Given the description of an element on the screen output the (x, y) to click on. 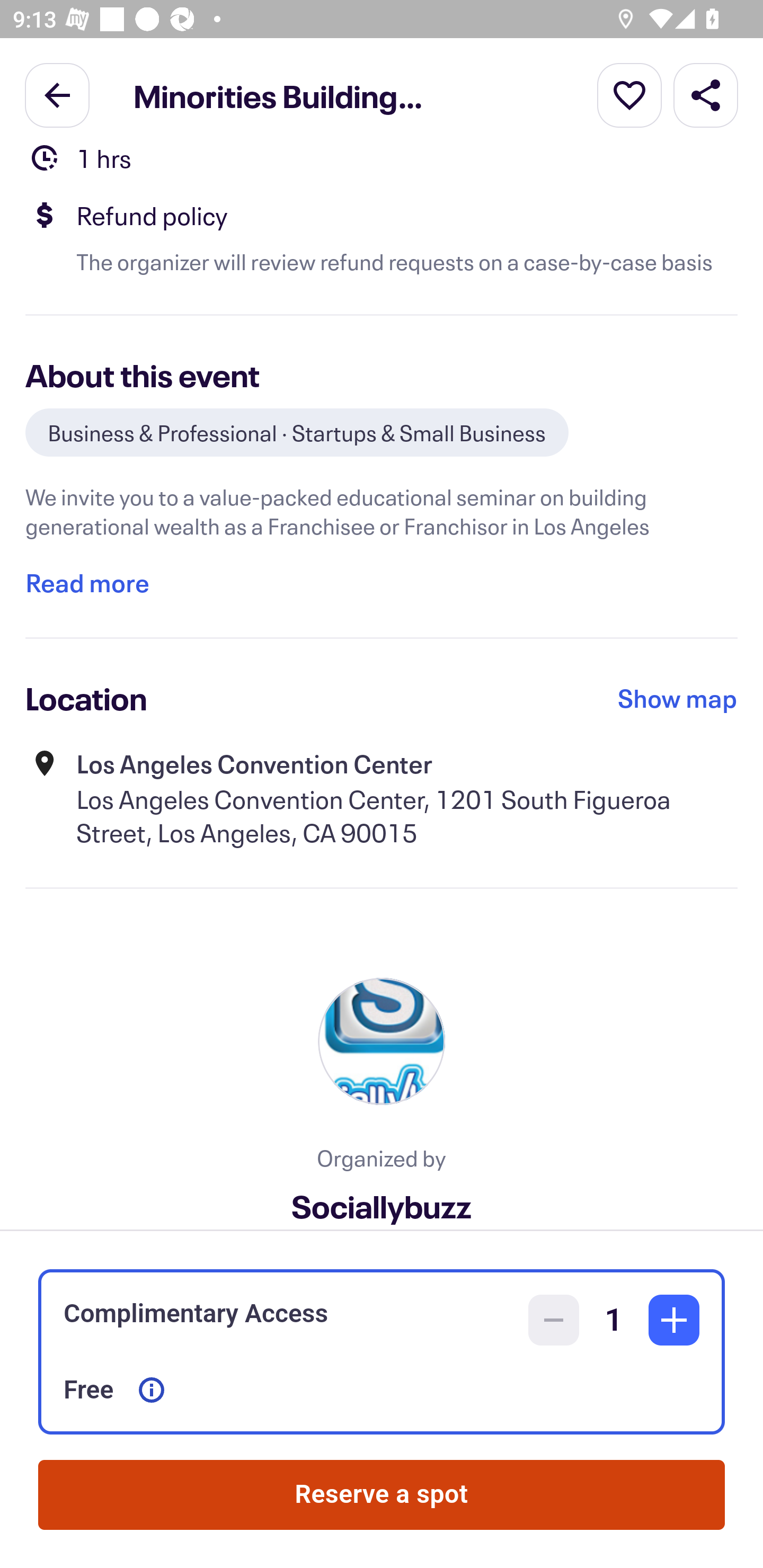
Back (57, 94)
More (629, 94)
Share (705, 94)
Read more (87, 582)
Show map (677, 698)
Organizer profile picture (381, 1041)
Sociallybuzz (381, 1199)
Decrease (553, 1320)
Increase (673, 1320)
Show more information (151, 1389)
Reserve a spot (381, 1494)
